Given the description of an element on the screen output the (x, y) to click on. 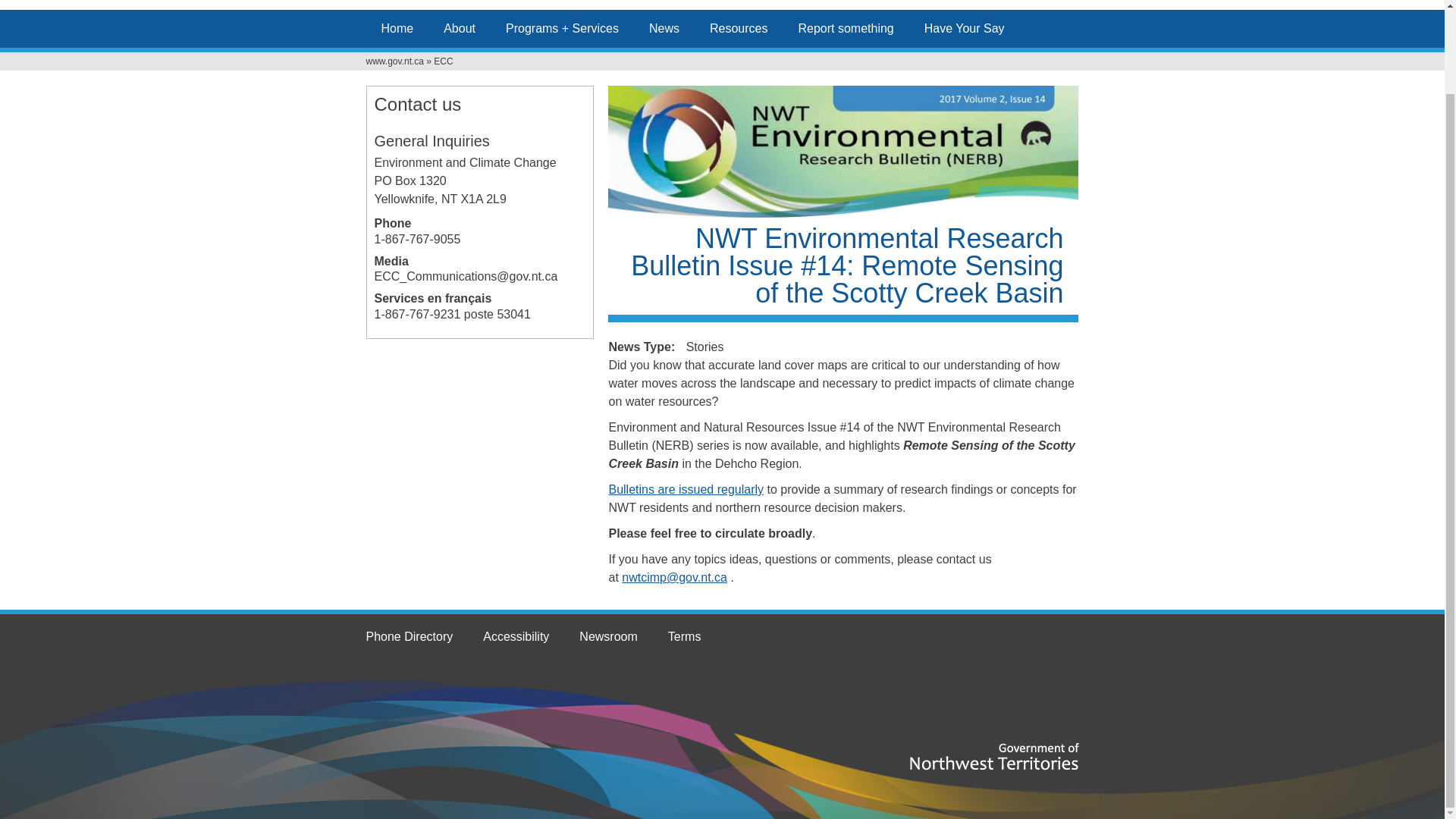
Resources (738, 28)
Have Your Say (964, 28)
About (459, 28)
Home (396, 28)
News (663, 28)
Report something (845, 28)
